Given the description of an element on the screen output the (x, y) to click on. 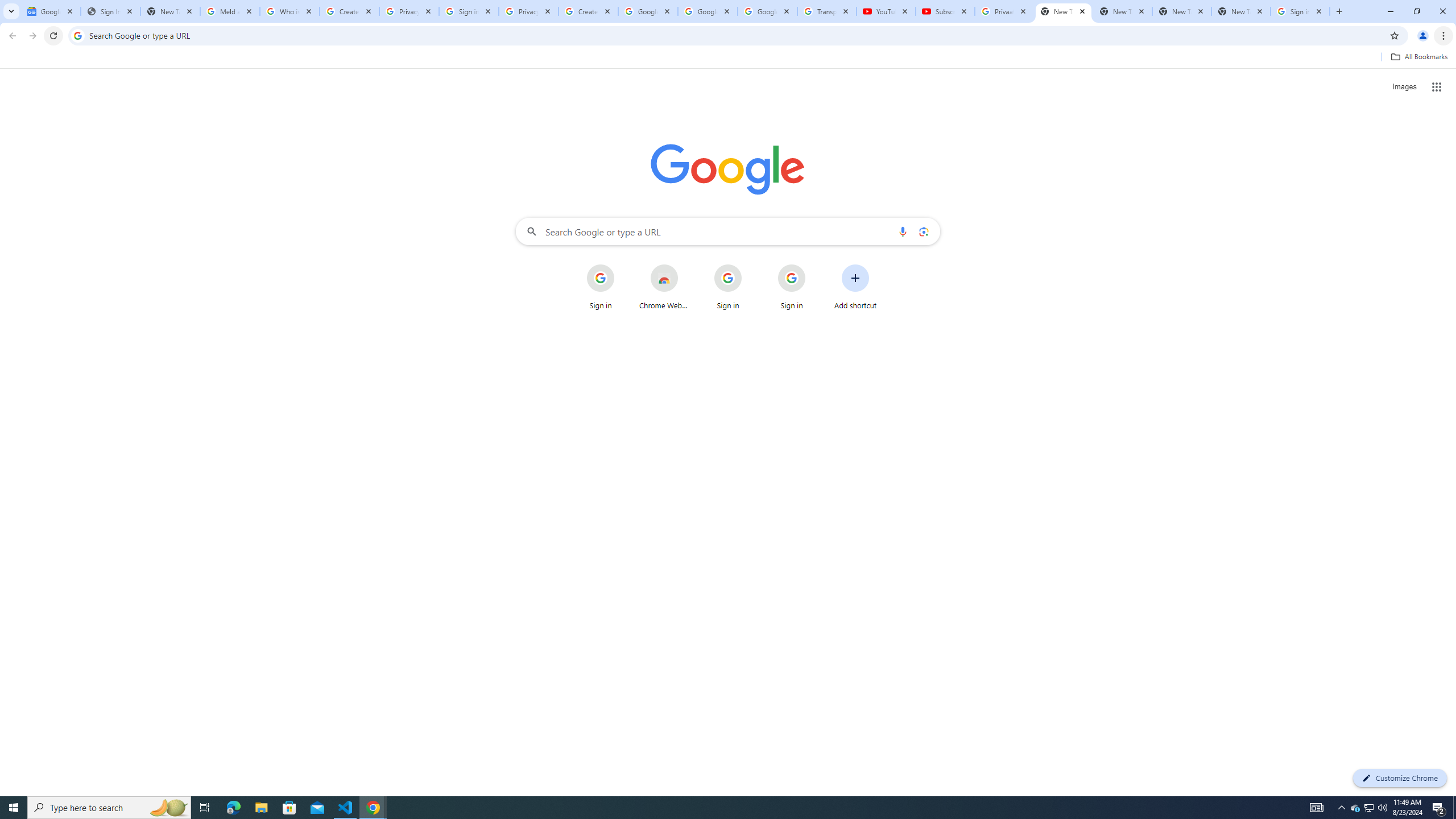
Search by voice (902, 230)
Google News (50, 11)
Add shortcut (855, 287)
New Tab (1241, 11)
Subscriptions - YouTube (944, 11)
Sign in - Google Accounts (1300, 11)
Chrome Web Store (663, 287)
Google Account (767, 11)
